Given the description of an element on the screen output the (x, y) to click on. 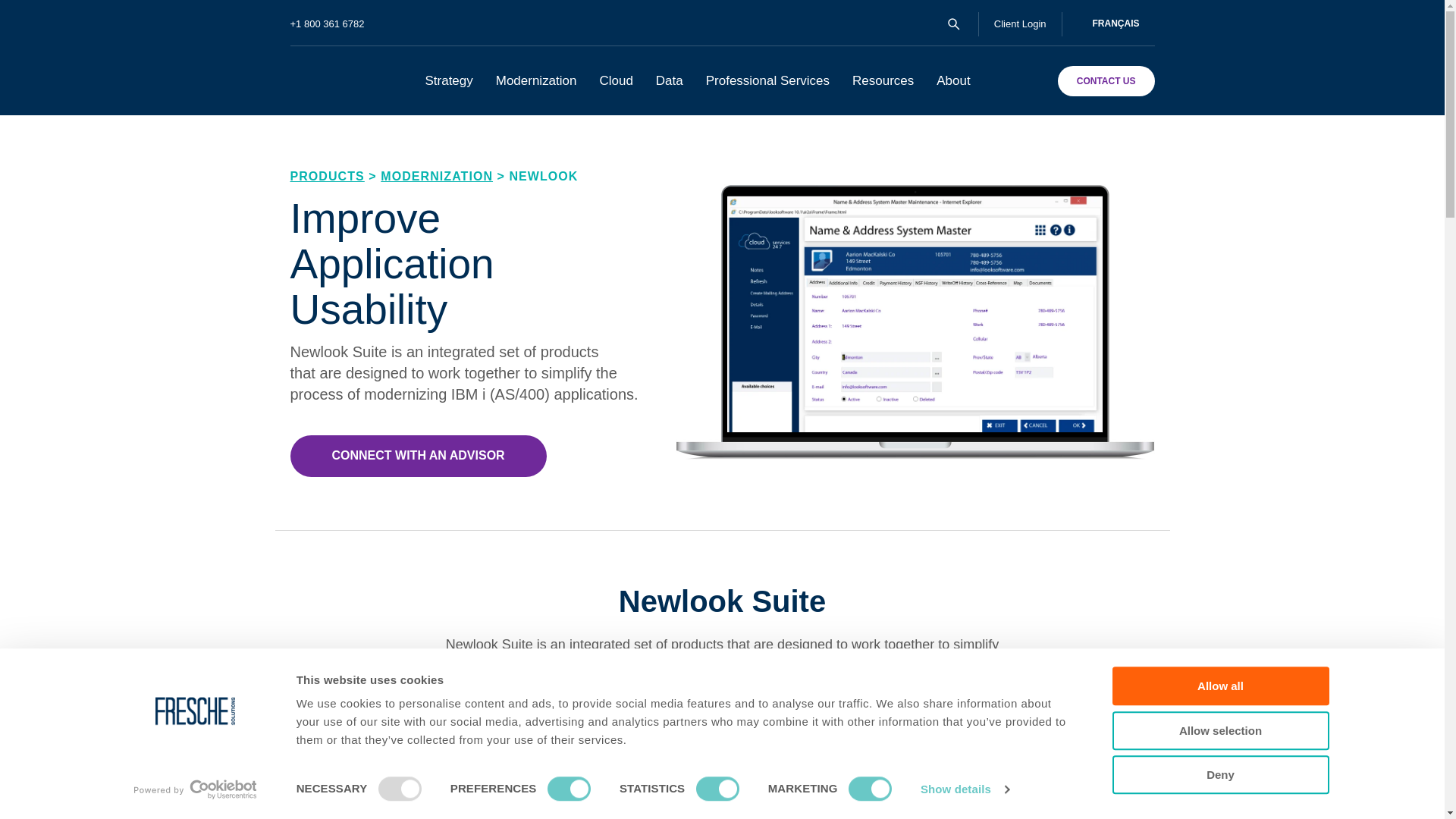
Show details (964, 789)
